Given the description of an element on the screen output the (x, y) to click on. 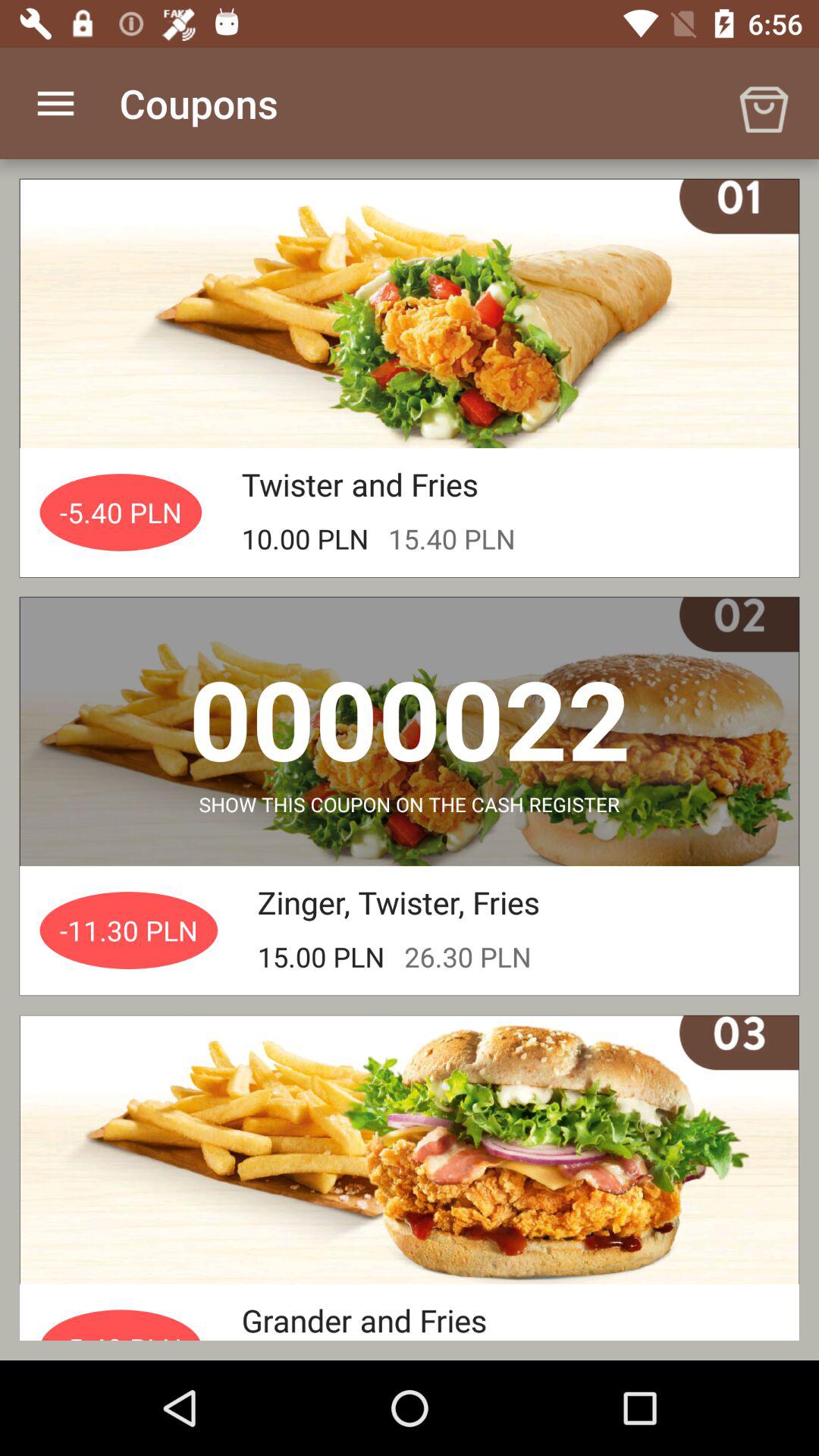
tap app next to the coupons icon (55, 103)
